Given the description of an element on the screen output the (x, y) to click on. 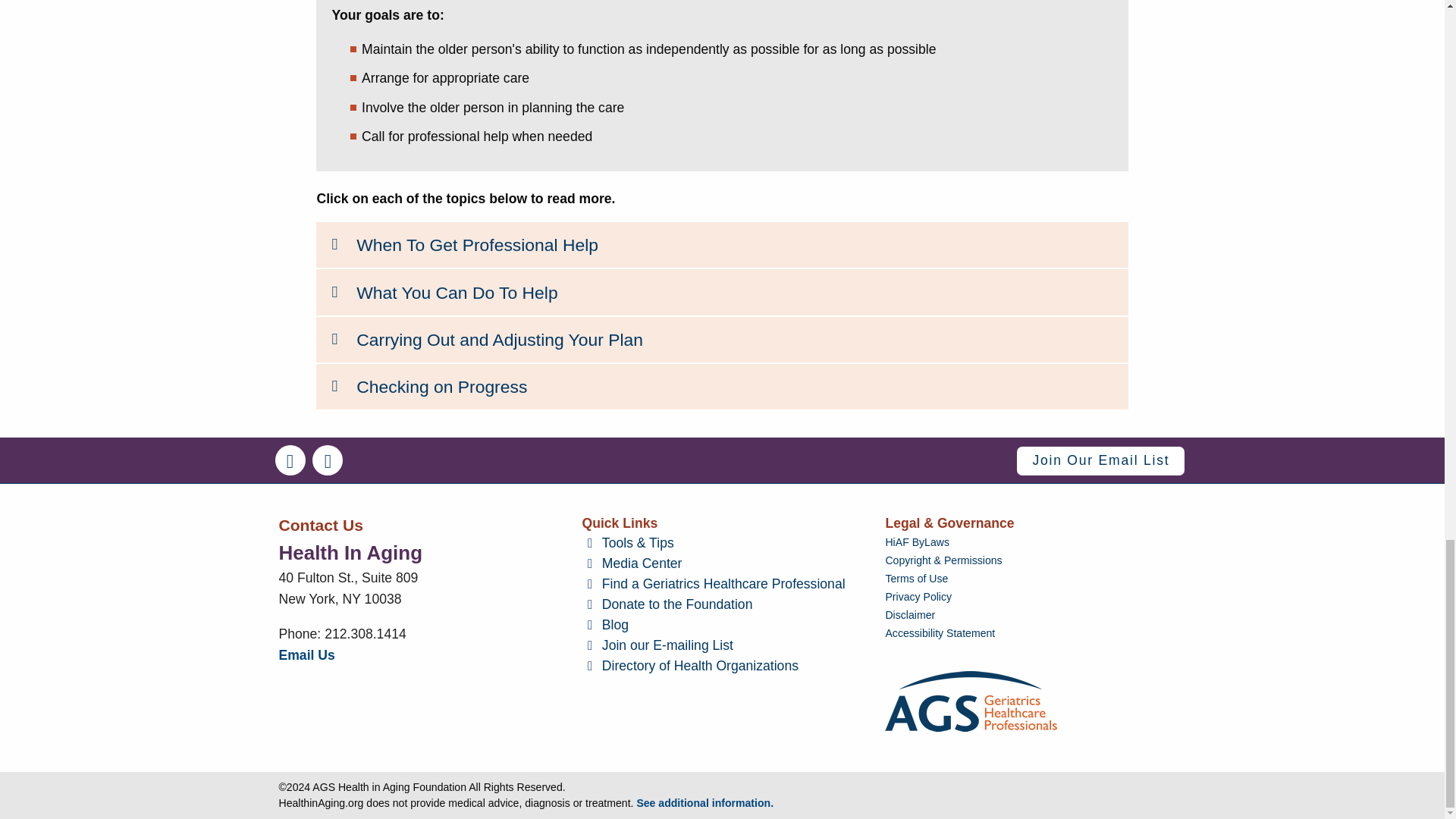
Accessibility Statement for HealthinAging.org (1025, 633)
American Geriatrics Society (971, 701)
Health In Aging Twitter (327, 460)
